Given the description of an element on the screen output the (x, y) to click on. 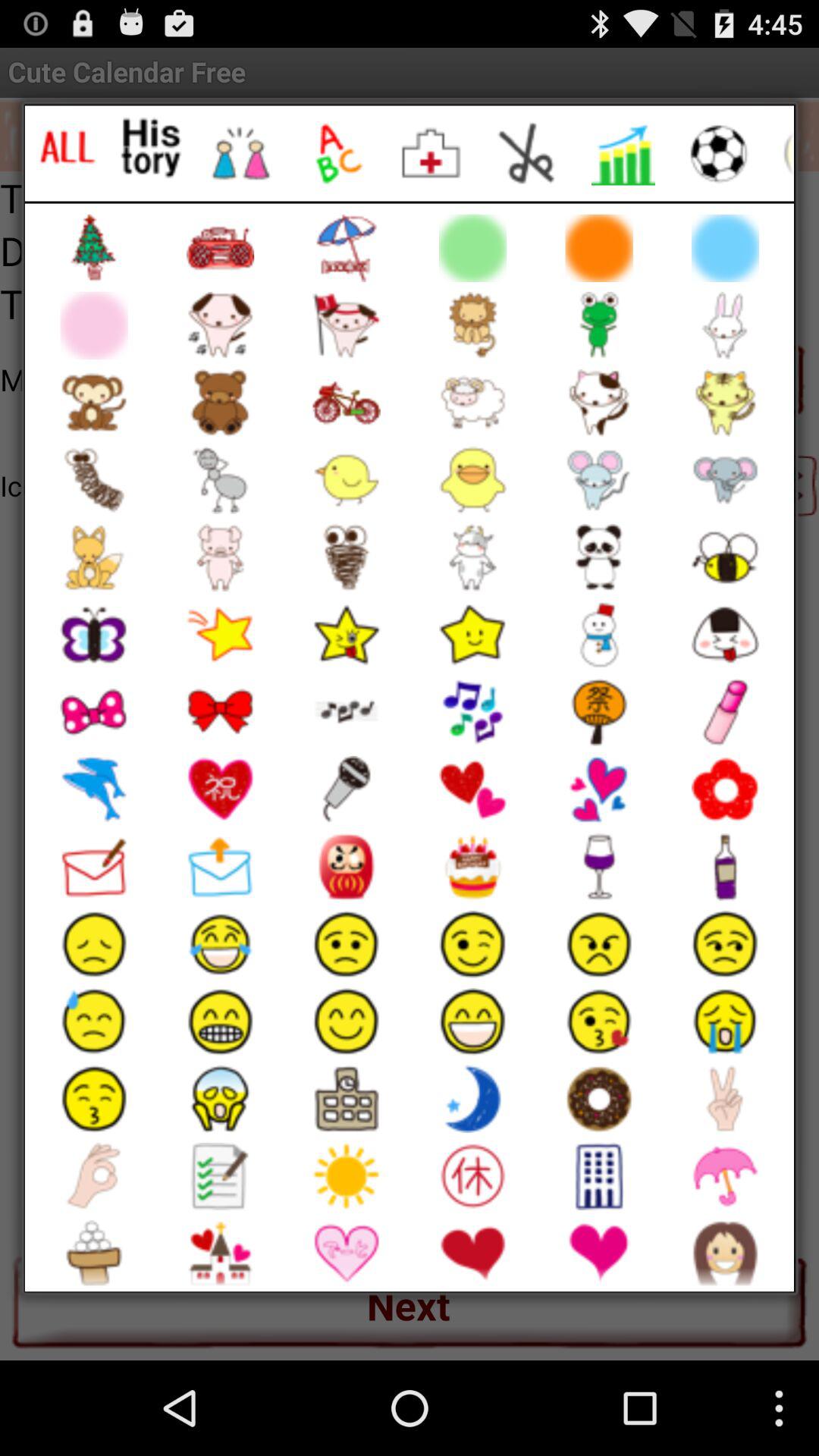
cut (527, 153)
